Given the description of an element on the screen output the (x, y) to click on. 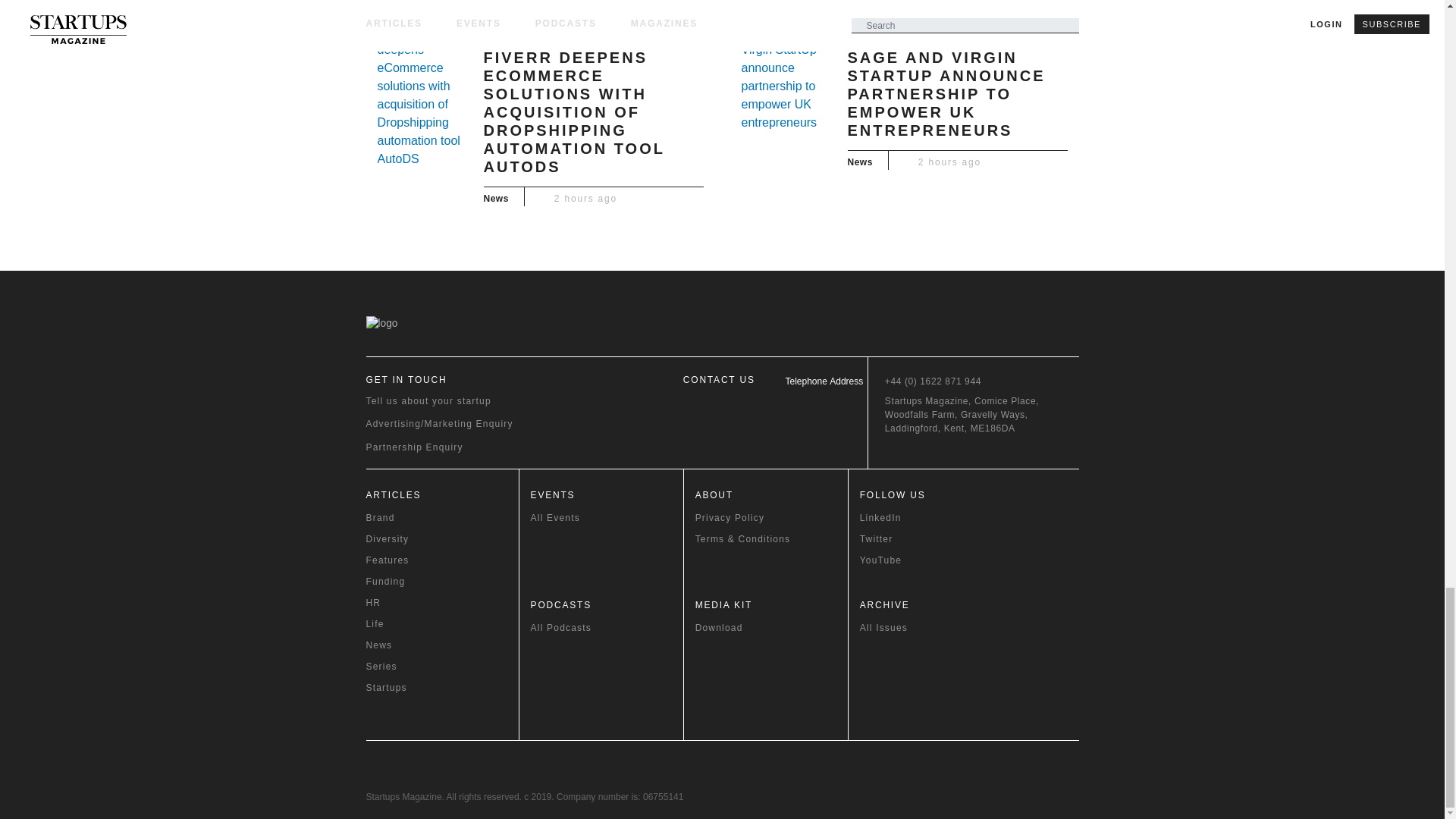
Brand (441, 517)
Diversity (441, 539)
Articles (441, 495)
Features (441, 560)
